Given the description of an element on the screen output the (x, y) to click on. 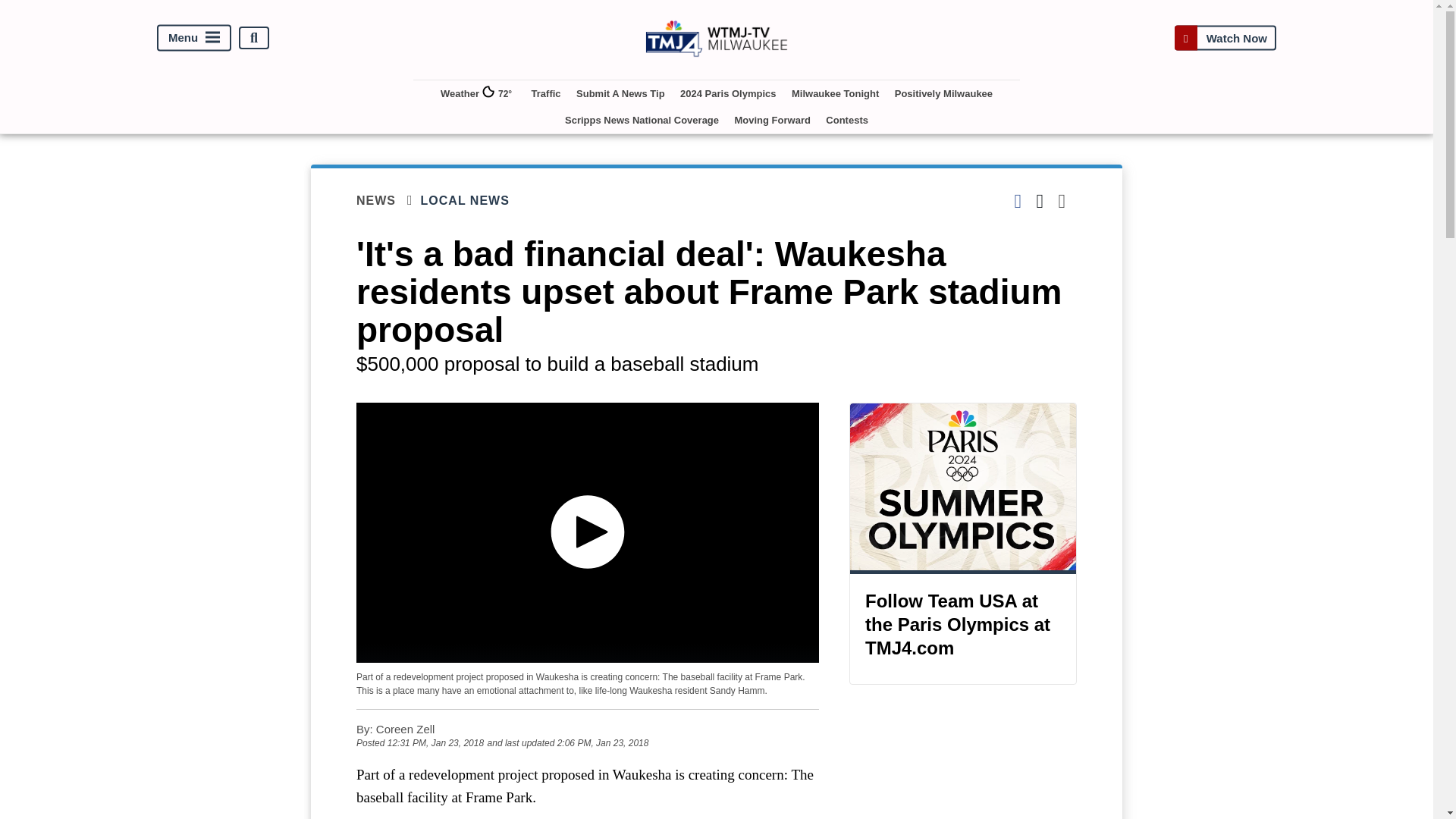
Watch Now (1224, 38)
Menu (194, 38)
